Given the description of an element on the screen output the (x, y) to click on. 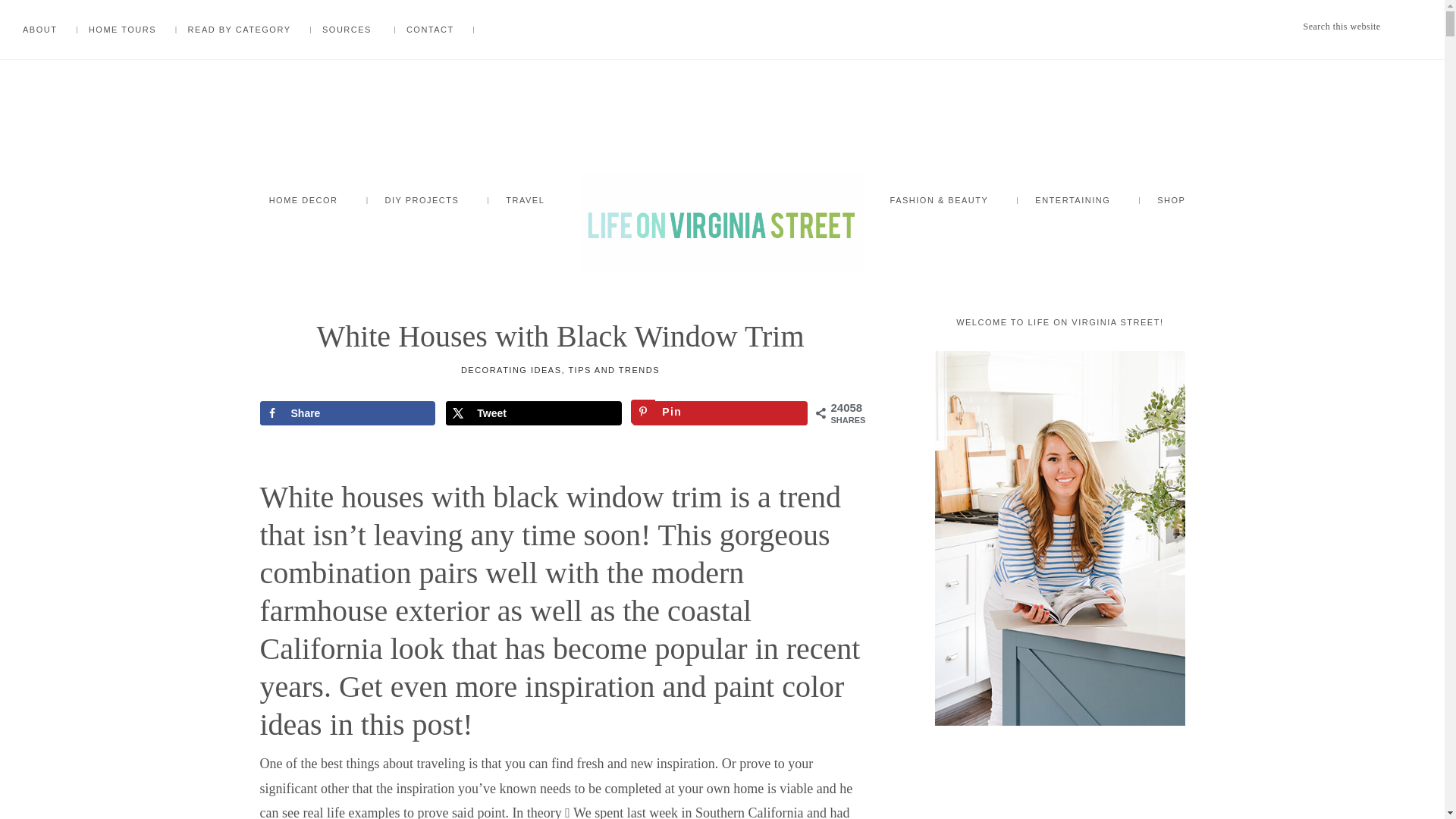
CONTACT (429, 29)
READ BY CATEGORY (239, 29)
Share on Facebook (346, 413)
DIY PROJECTS (421, 203)
SOURCES (346, 29)
Share on X (533, 413)
HOME TOURS (122, 29)
